Given the description of an element on the screen output the (x, y) to click on. 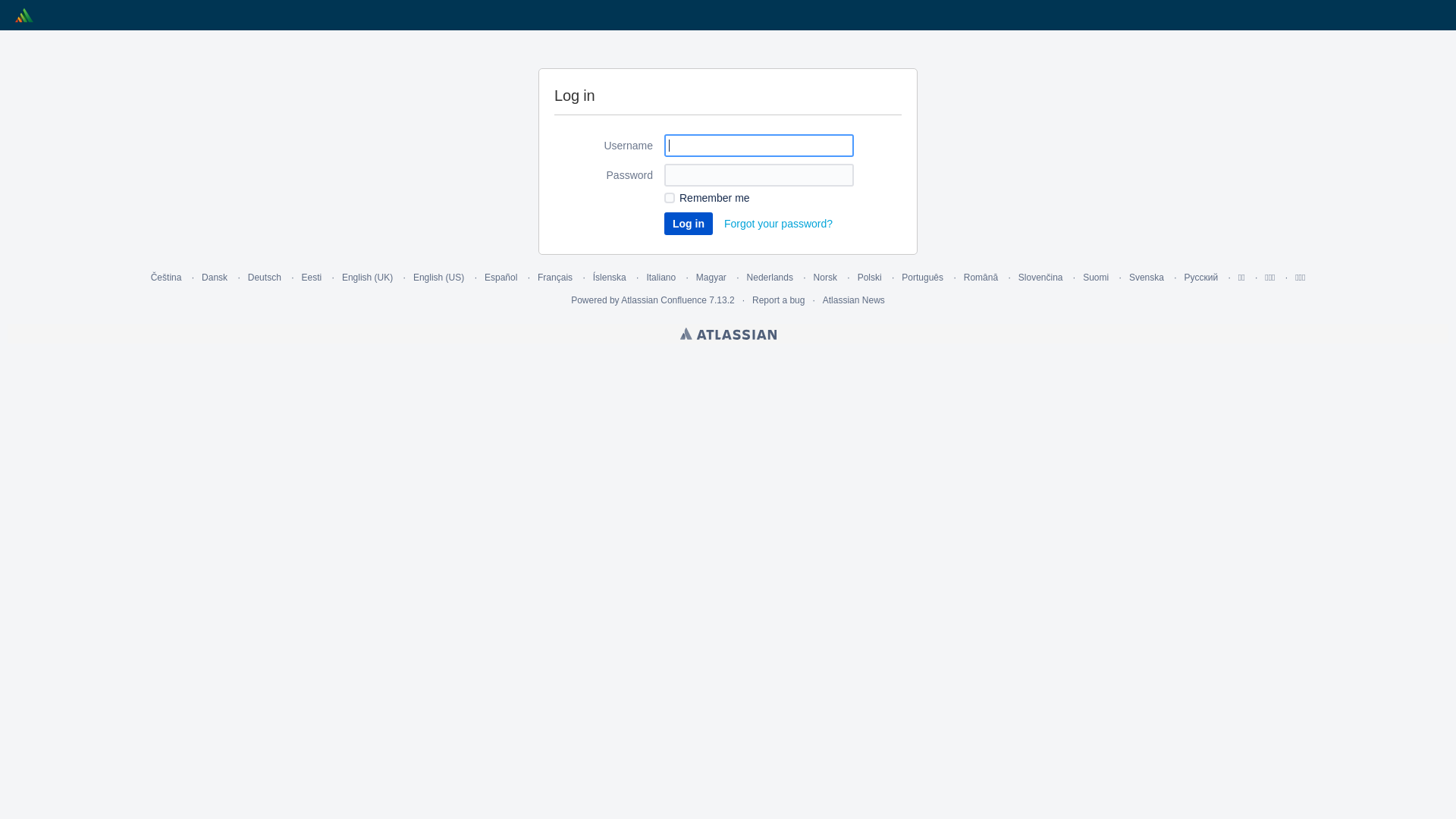
Magyar Element type: text (711, 277)
Atlassian News Element type: text (853, 299)
Forgot your password? Element type: text (778, 223)
Norsk Element type: text (825, 277)
Deutsch Element type: text (264, 277)
Report a bug Element type: text (778, 299)
Svenska Element type: text (1146, 277)
Italiano Element type: text (660, 277)
Atlassian Element type: text (727, 333)
Eesti Element type: text (311, 277)
Atlassian Confluence Element type: text (663, 299)
English (US) Element type: text (438, 277)
English (UK) Element type: text (367, 277)
Log in Element type: text (688, 223)
Suomi Element type: text (1095, 277)
Polski Element type: text (869, 277)
Nederlands Element type: text (769, 277)
Dansk Element type: text (214, 277)
